Given the description of an element on the screen output the (x, y) to click on. 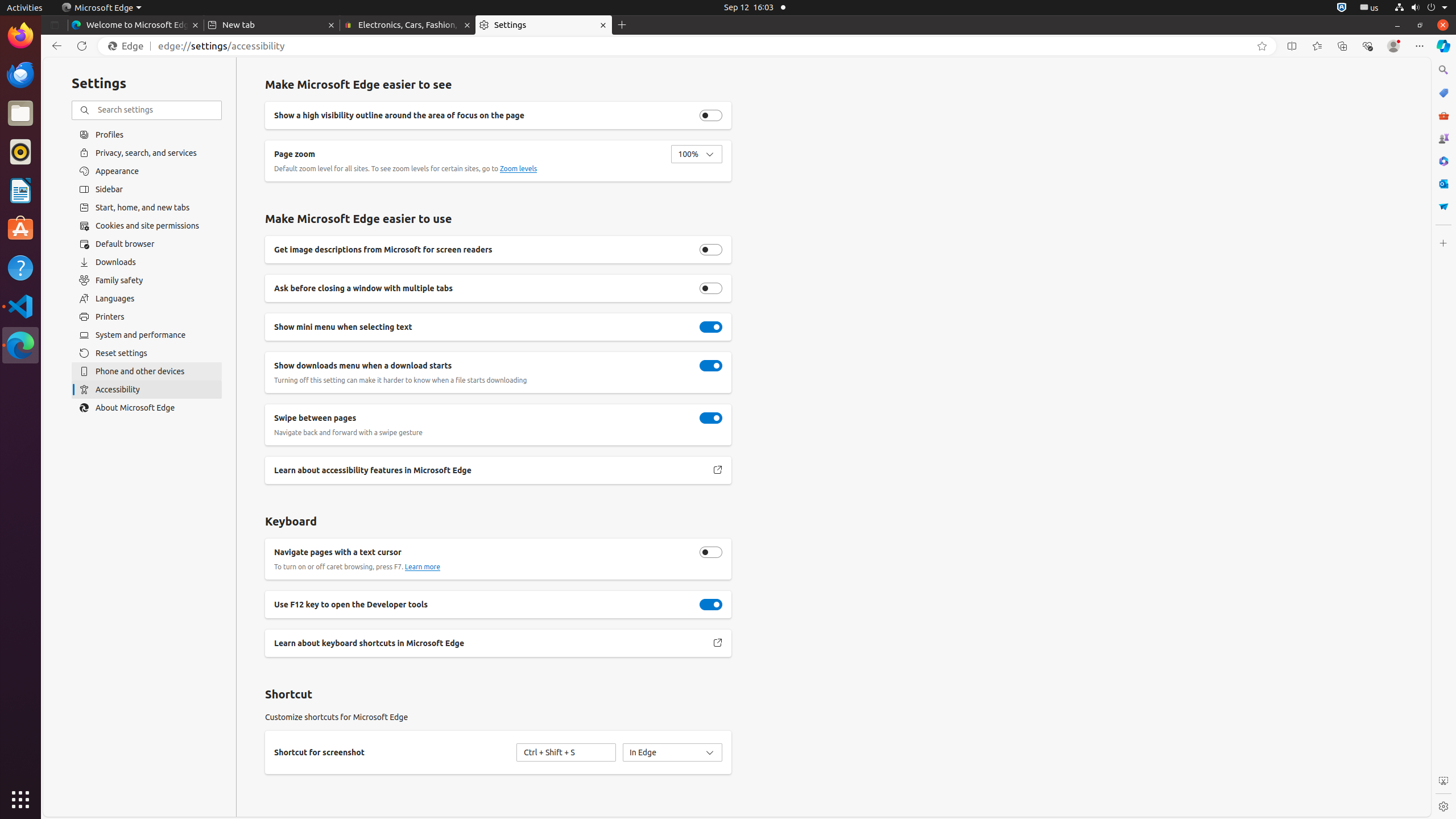
Privacy, search, and services Element type: tree-item (146, 152)
Back Element type: push-button (54, 45)
Electronics, Cars, Fashion, Collectibles & More | eBay Element type: page-tab (407, 25)
Edge Element type: push-button (128, 46)
Cookies and site permissions Element type: tree-item (146, 225)
